Given the description of an element on the screen output the (x, y) to click on. 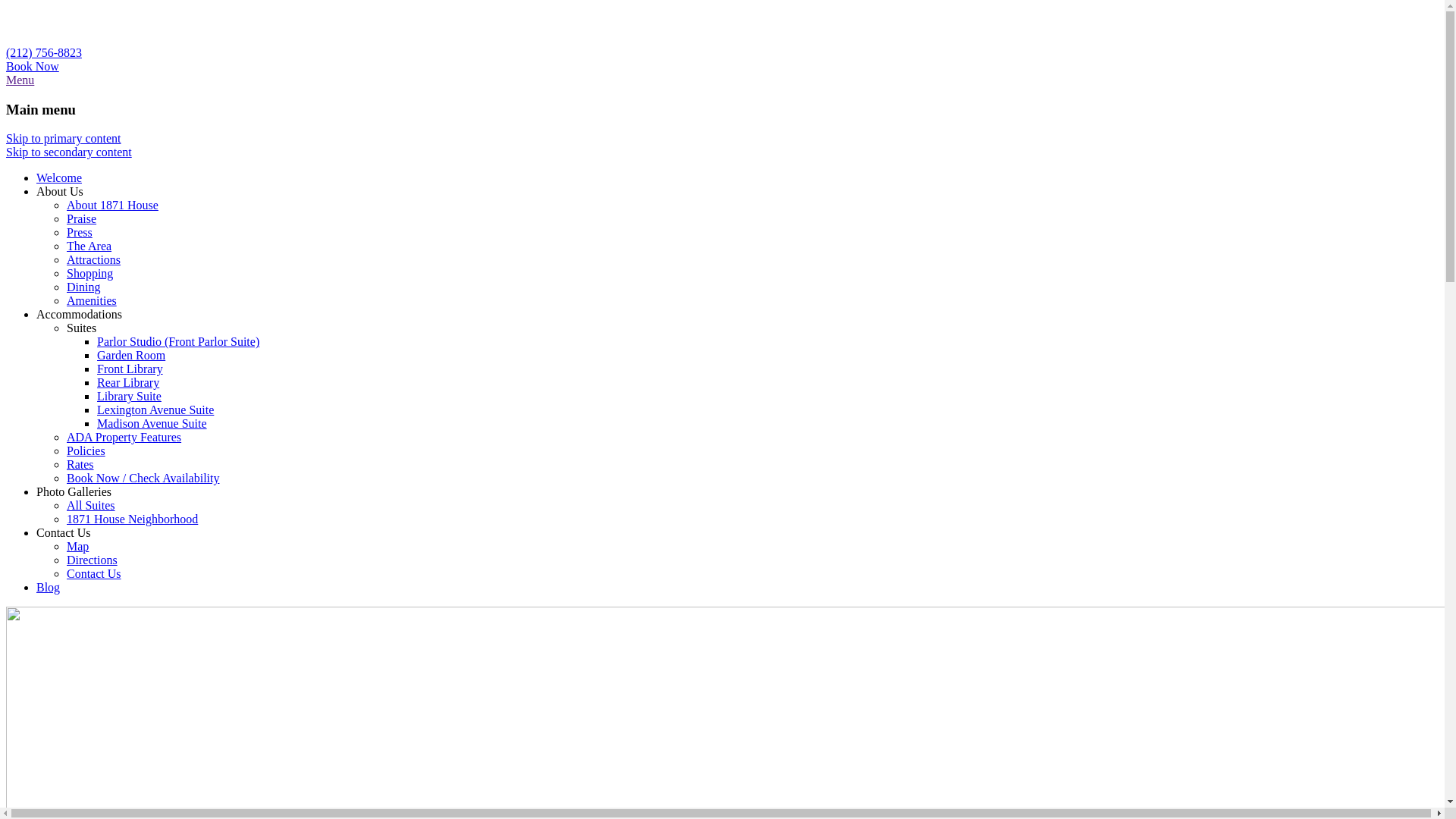
Press Element type: text (79, 231)
Attractions Element type: text (93, 259)
Shopping Element type: text (89, 272)
Welcome Element type: text (58, 177)
The Area Element type: text (88, 245)
Contact Us Element type: text (93, 573)
About 1871 House Element type: text (112, 204)
All Suites Element type: text (90, 504)
1871 House Neighborhood Element type: text (131, 518)
Lexington Avenue Suite Element type: text (155, 409)
Skip to secondary content Element type: text (68, 151)
1871 House Element type: hover (83, 38)
Suites Element type: text (81, 327)
Parlor Studio (Front Parlor Suite) Element type: text (178, 341)
Accommodations Element type: text (79, 313)
Garden Room Element type: text (131, 354)
ADA Property Features Element type: text (123, 436)
Menu Element type: text (20, 79)
Amenities Element type: text (91, 300)
(212) 756-8823 Element type: text (43, 52)
Map Element type: text (77, 545)
Dining Element type: text (83, 286)
Skip to primary content Element type: text (63, 137)
Praise Element type: text (81, 218)
Book Now / Check Availability Element type: text (142, 477)
Contact Us Element type: text (63, 532)
Madison Avenue Suite Element type: text (152, 423)
Blog Element type: text (47, 586)
Front Library Element type: text (130, 368)
Rear Library Element type: text (128, 382)
Book Now Element type: text (32, 65)
Library Suite Element type: text (129, 395)
Directions Element type: text (91, 559)
Rates Element type: text (80, 464)
Policies Element type: text (85, 450)
About Us Element type: text (59, 191)
Photo Galleries Element type: text (73, 491)
